Given the description of an element on the screen output the (x, y) to click on. 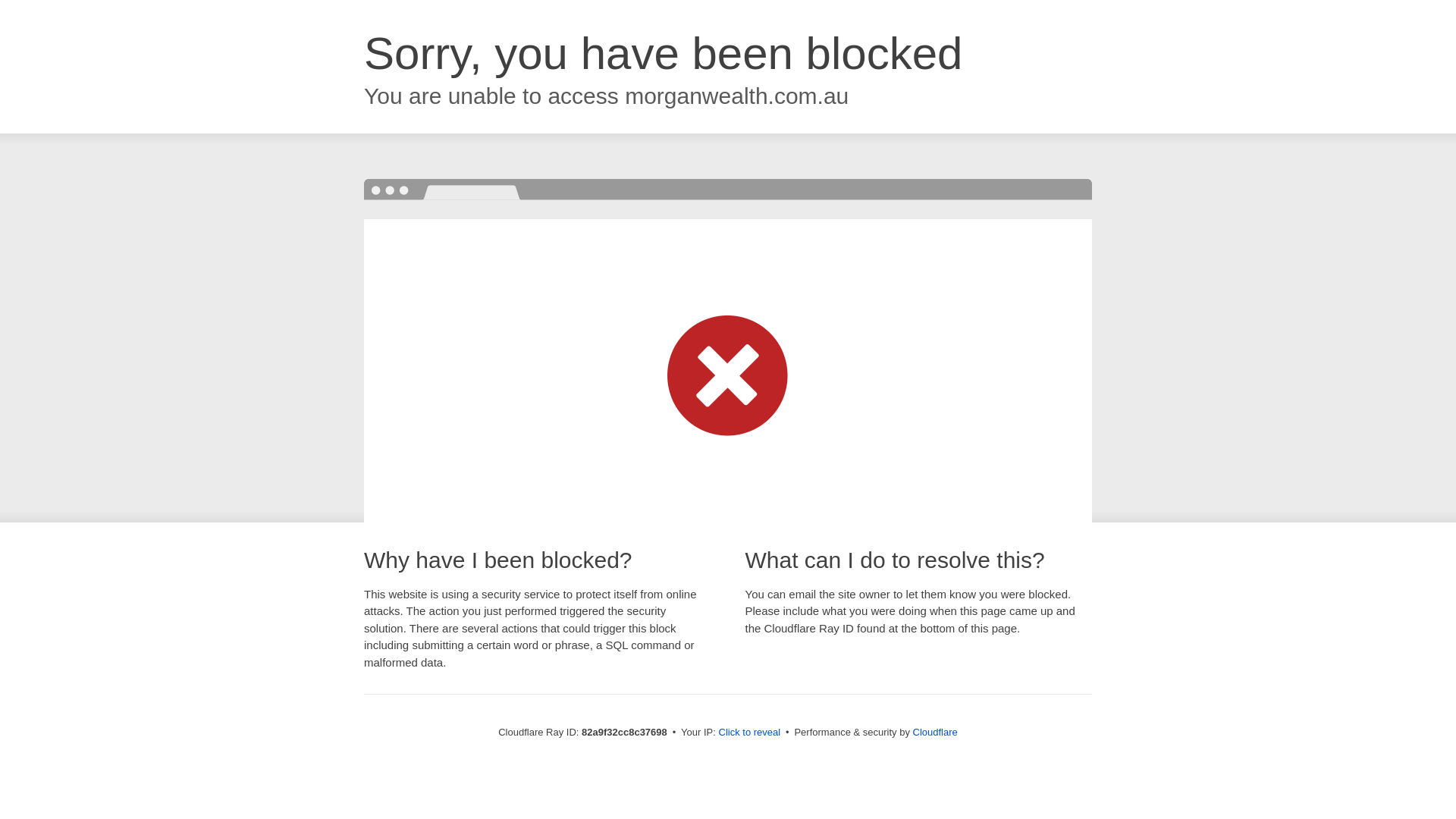
Click to reveal Element type: text (749, 732)
Cloudflare Element type: text (935, 731)
